Given the description of an element on the screen output the (x, y) to click on. 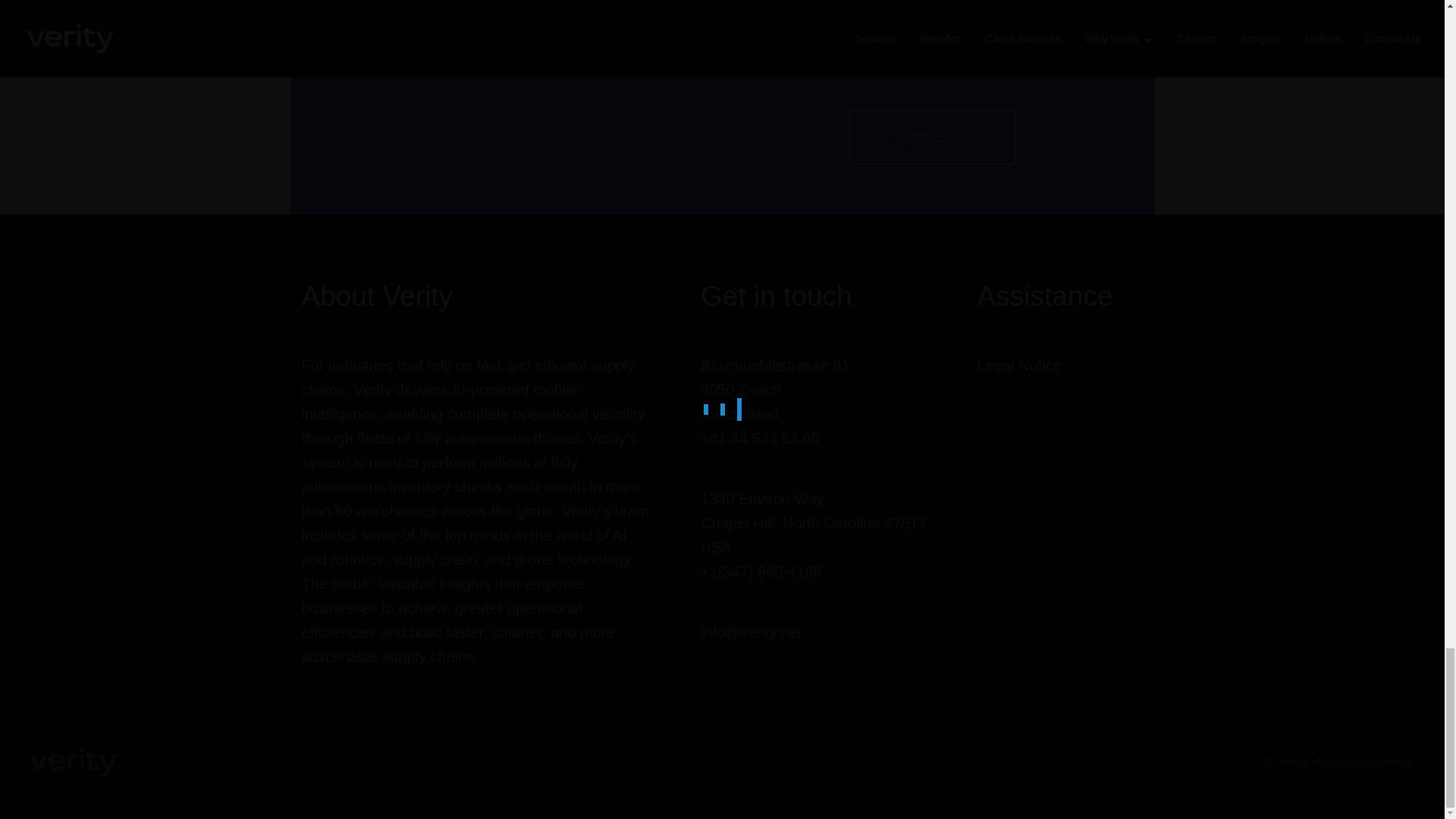
Contact us (932, 136)
Contact (932, 137)
Legal Notice (1018, 365)
Contact us (932, 137)
